Given the description of an element on the screen output the (x, y) to click on. 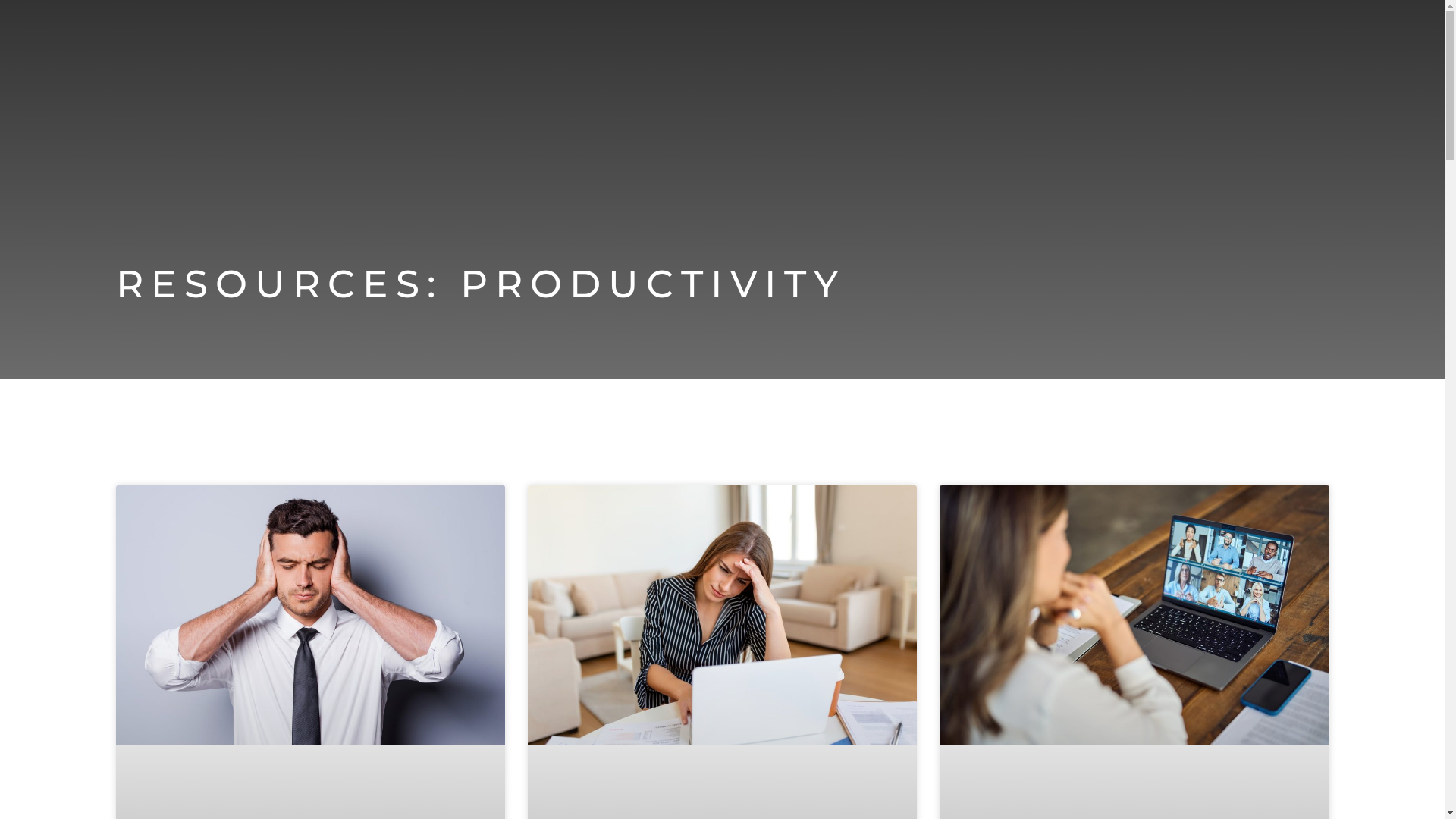
Skip to content Element type: text (11, 31)
